Given the description of an element on the screen output the (x, y) to click on. 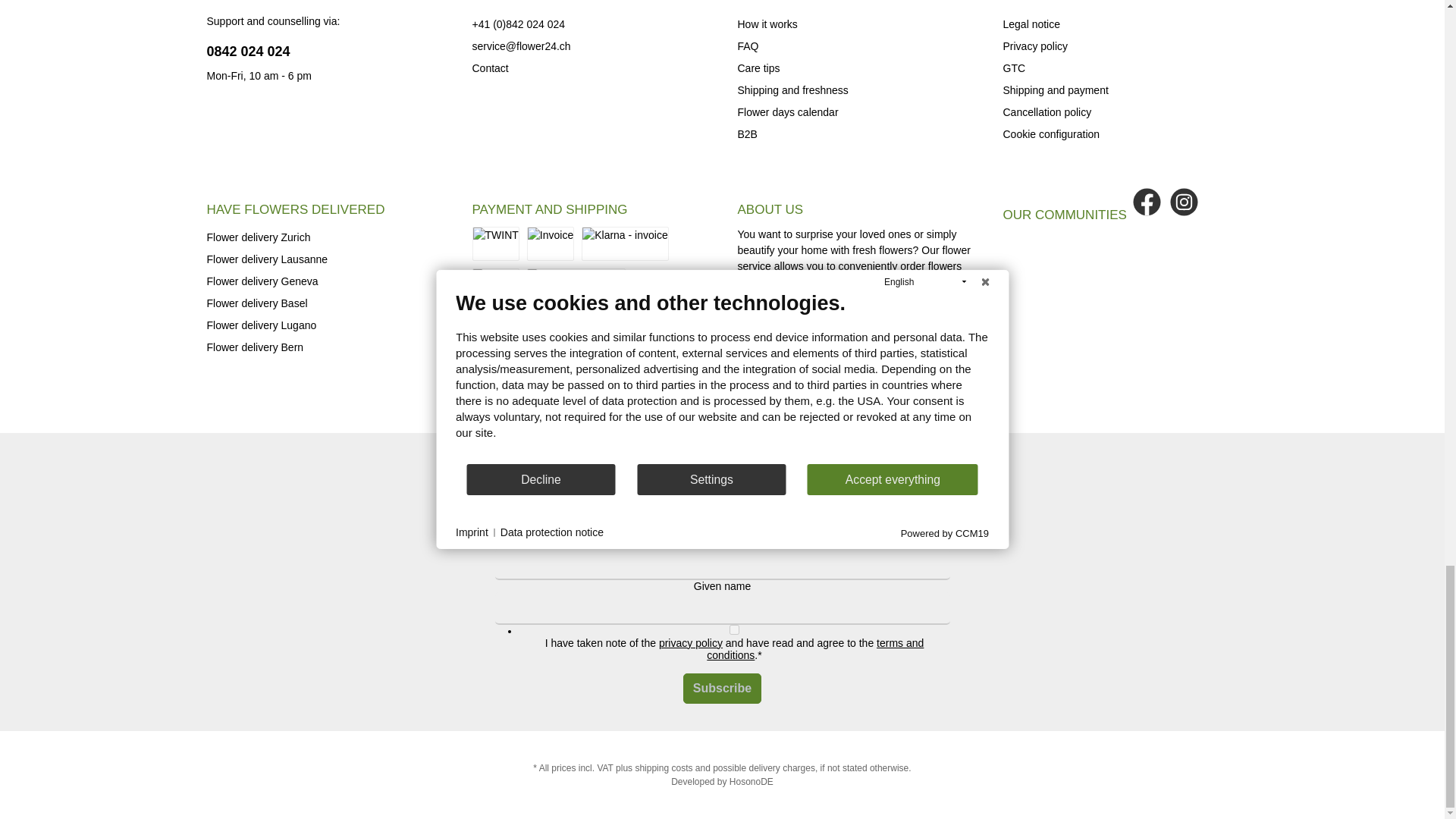
Subscribe (721, 688)
